Given the description of an element on the screen output the (x, y) to click on. 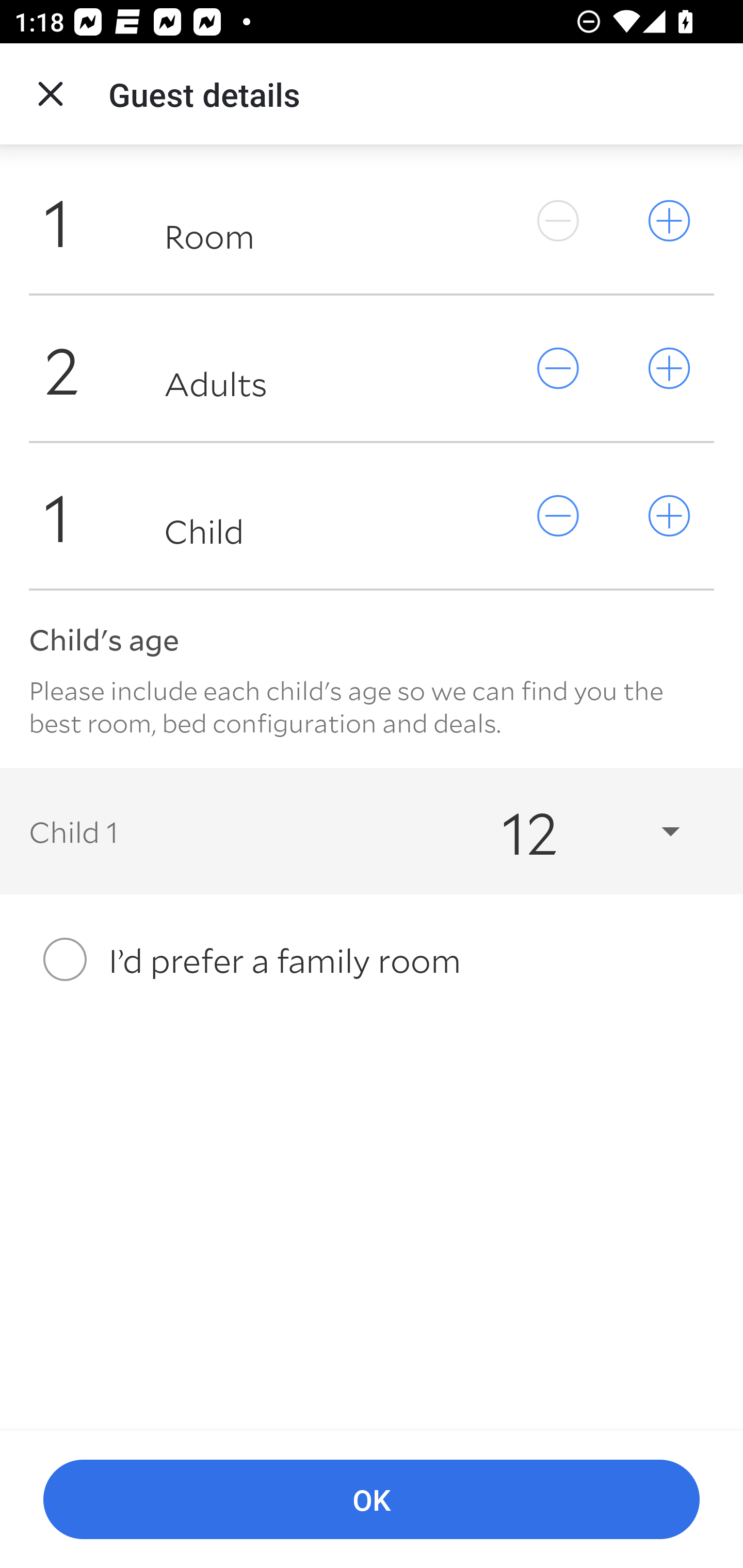
12 (573, 830)
I’d prefer a family room (371, 959)
OK (371, 1499)
